Given the description of an element on the screen output the (x, y) to click on. 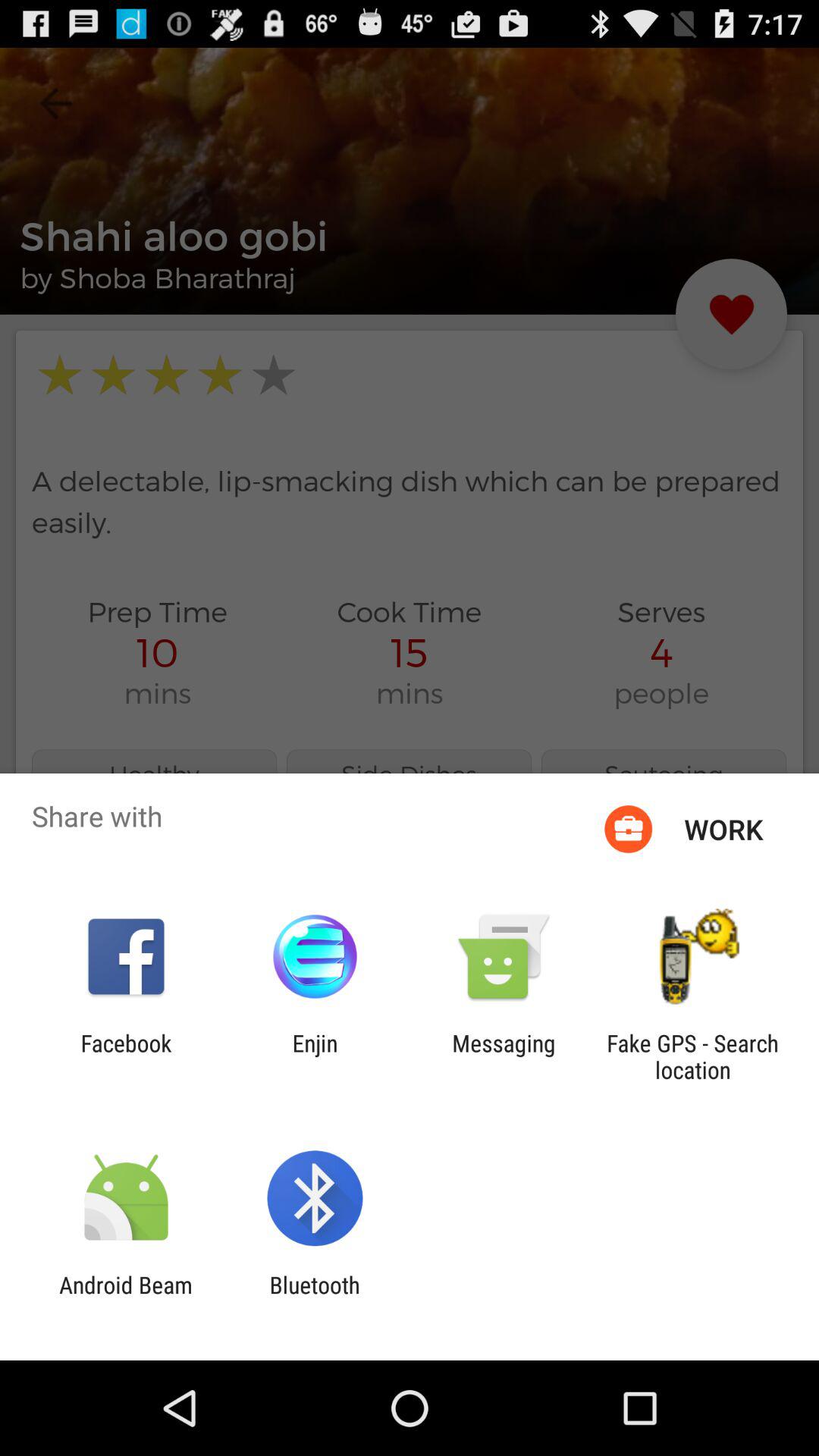
launch the app to the right of enjin icon (503, 1056)
